Given the description of an element on the screen output the (x, y) to click on. 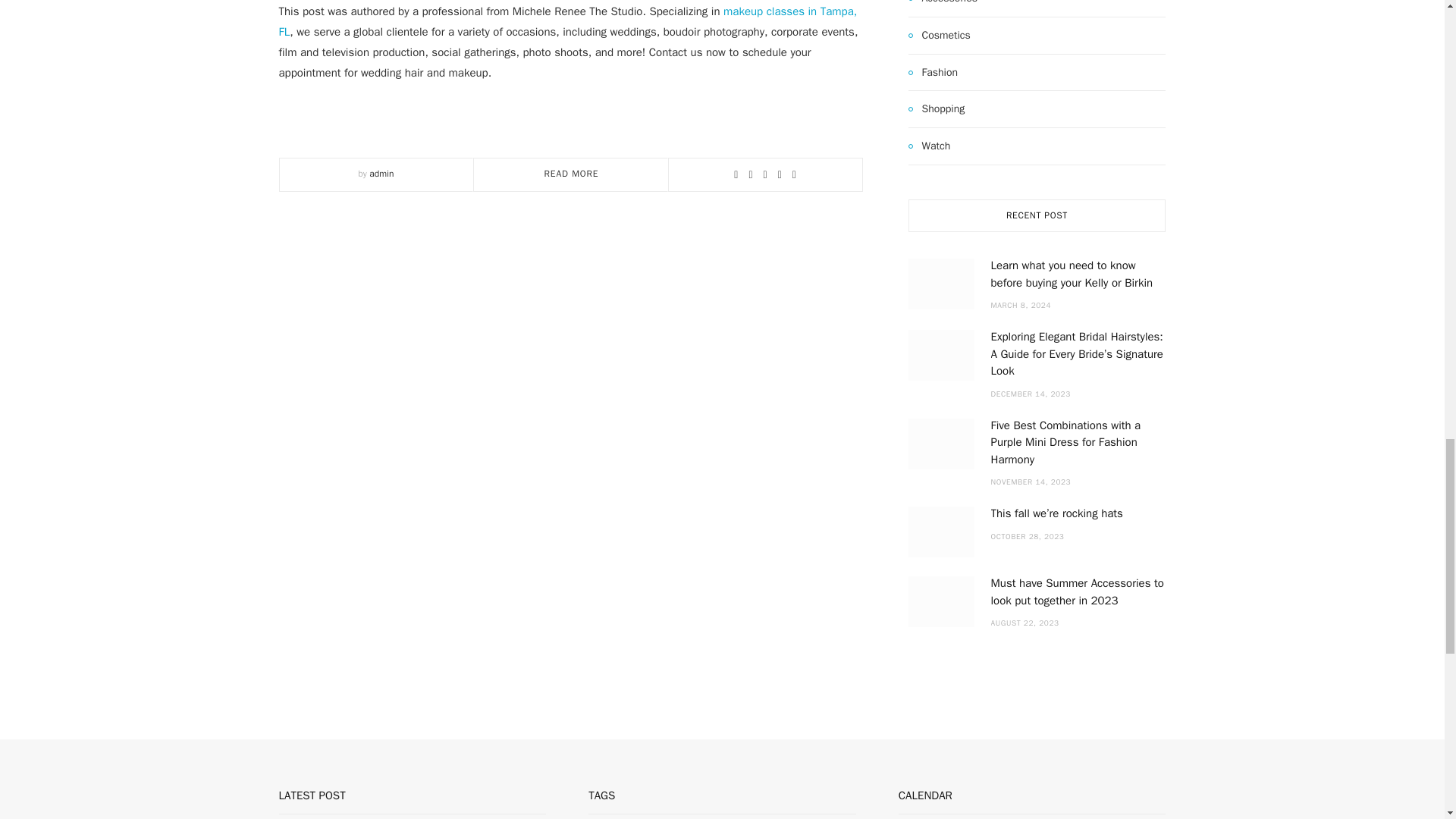
READ MORE (571, 173)
Posts by admin (381, 173)
admin (381, 173)
makeup classes in Tampa, FL (568, 21)
